Given the description of an element on the screen output the (x, y) to click on. 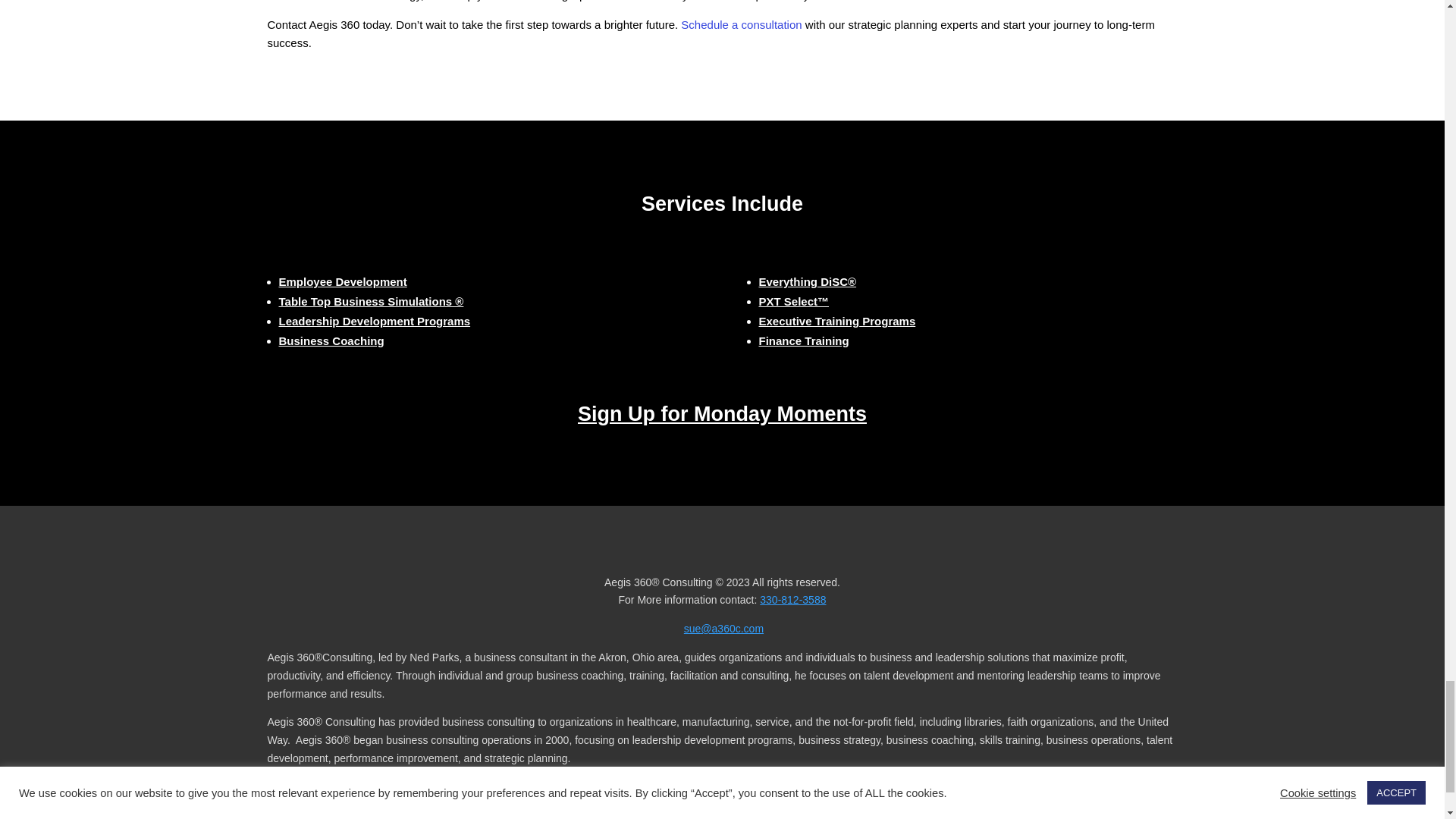
Workshops (836, 320)
Email Sign up (722, 413)
Business Coaching (331, 340)
Everything DiSC Workshop (807, 281)
PXT Select (343, 281)
Employee Development (343, 281)
Finance for the non-finance manager (803, 340)
Leadership (374, 320)
Table Top Business Simulations (371, 300)
onboarding and prehire assessments (793, 300)
